Given the description of an element on the screen output the (x, y) to click on. 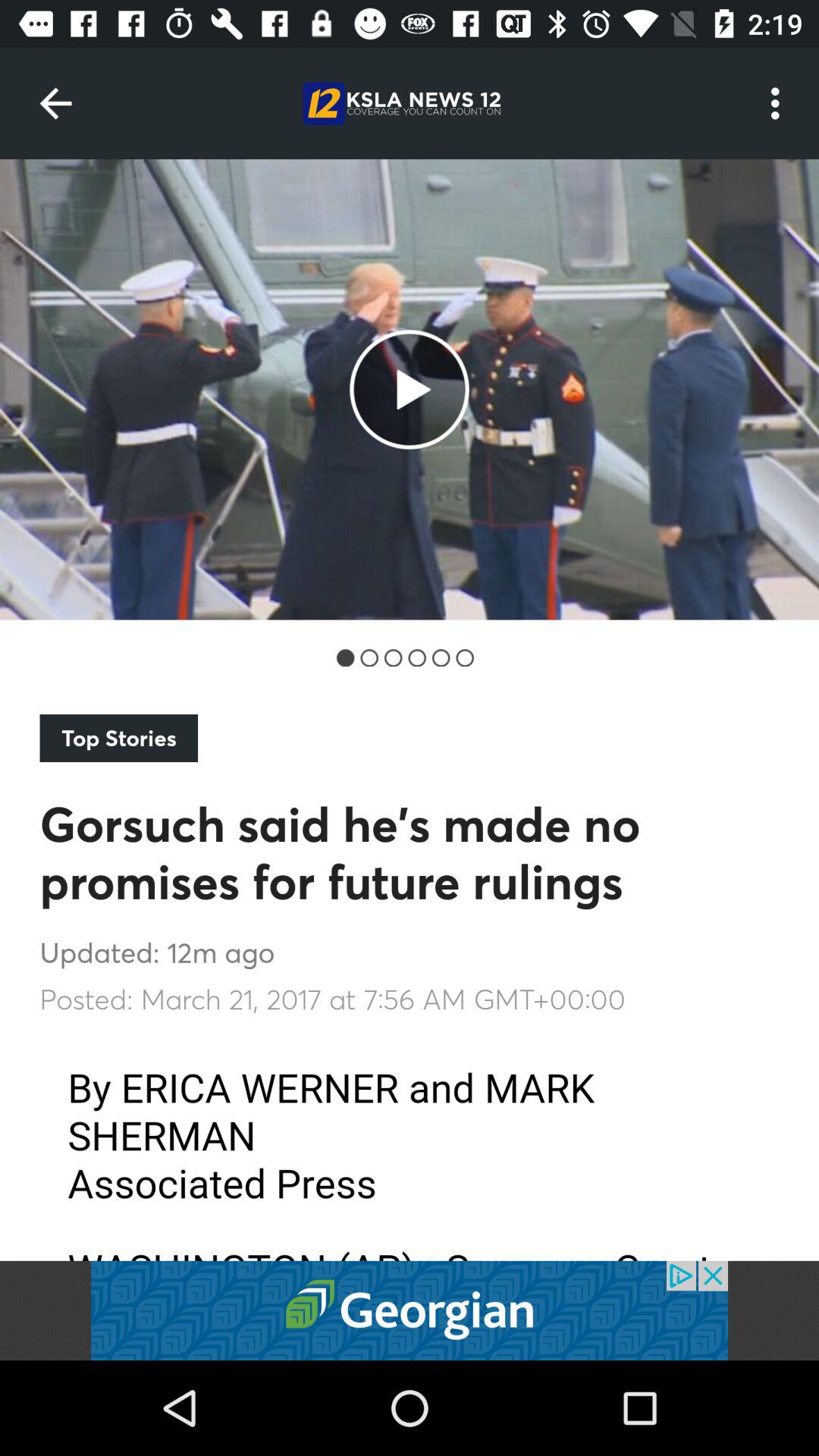
make advertisement (409, 1310)
